Given the description of an element on the screen output the (x, y) to click on. 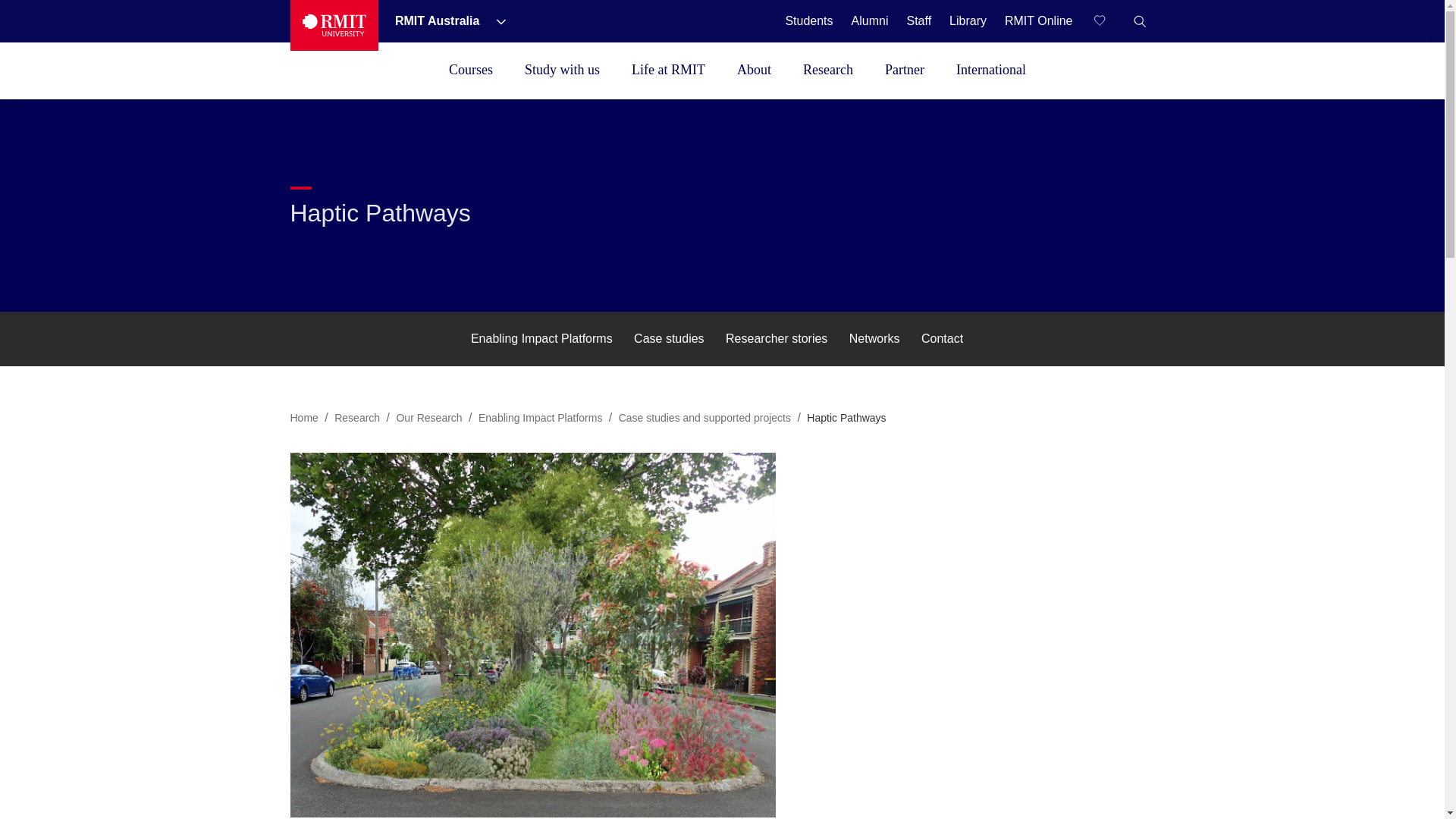
Library (967, 20)
Alumni (869, 20)
Staff (918, 20)
Students (808, 20)
RMIT Australia (438, 20)
RMIT Online (1038, 20)
